Given the description of an element on the screen output the (x, y) to click on. 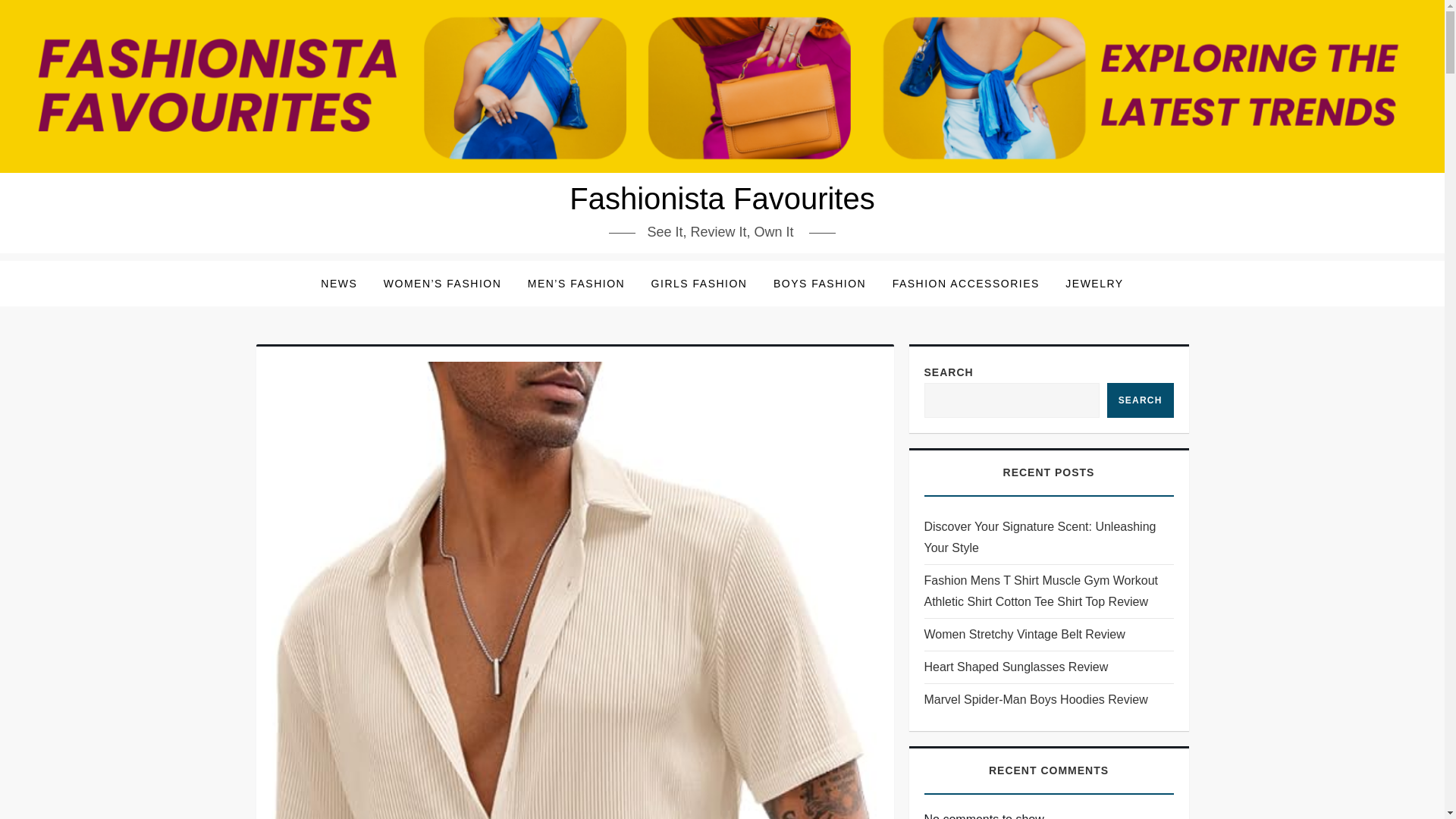
FASHION ACCESSORIES (965, 283)
GIRLS FASHION (699, 283)
BOYS FASHION (819, 283)
NEWS (338, 283)
Fashionista Favourites (722, 198)
JEWELRY (1094, 283)
